Given the description of an element on the screen output the (x, y) to click on. 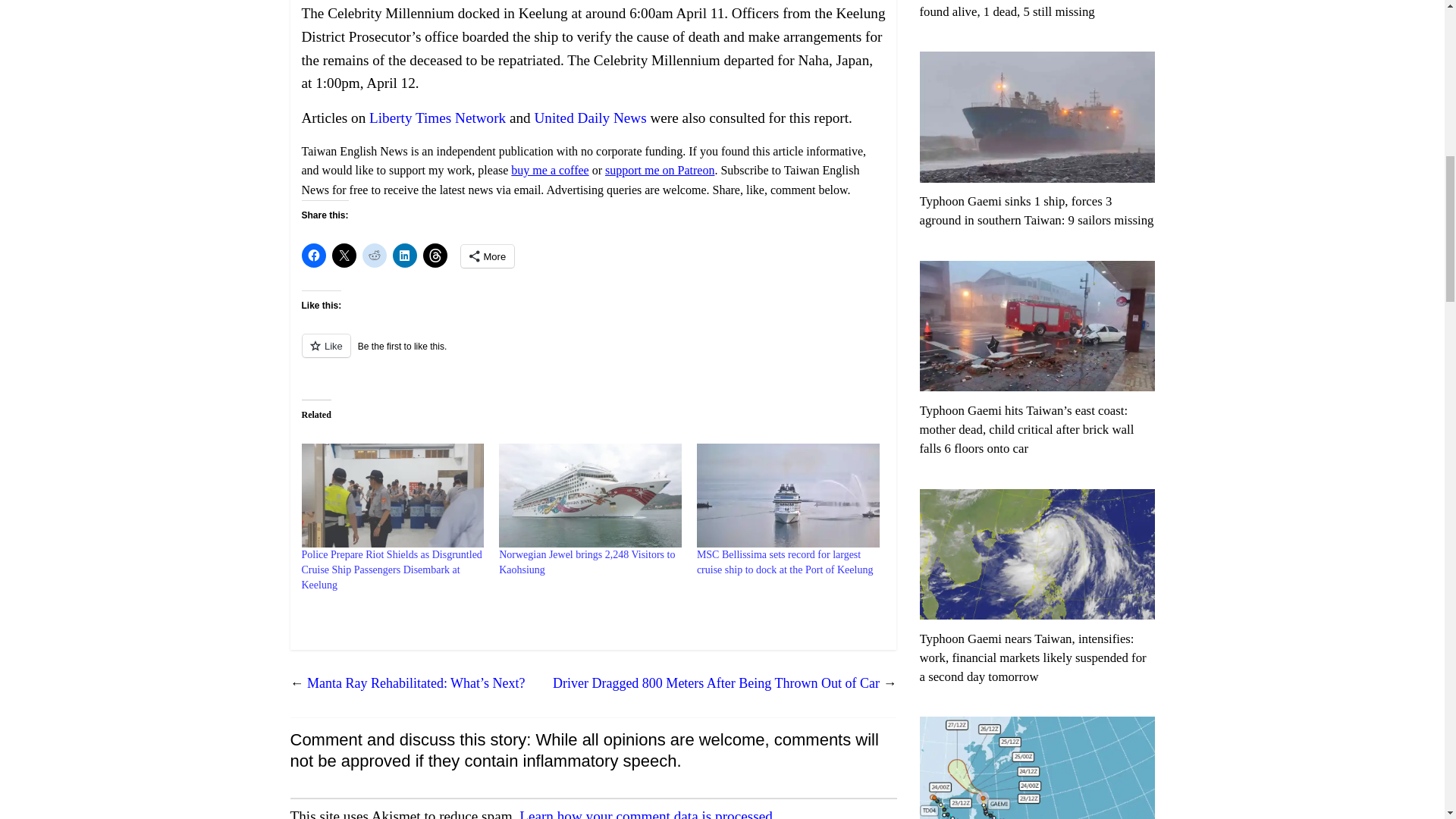
support me on Patreon (659, 169)
Click to share on Reddit (374, 255)
Liberty Times Network (437, 117)
Click to share on Facebook (313, 255)
More (488, 255)
Click to share on X (343, 255)
Norwegian Jewel brings 2,248 Visitors to Kaohsiung (587, 561)
Click to share on Threads (434, 255)
Learn how your comment data is processed (646, 813)
United Daily News (590, 117)
Like or Reblog (593, 354)
buy me a coffee (549, 169)
Click to share on LinkedIn (404, 255)
